Given the description of an element on the screen output the (x, y) to click on. 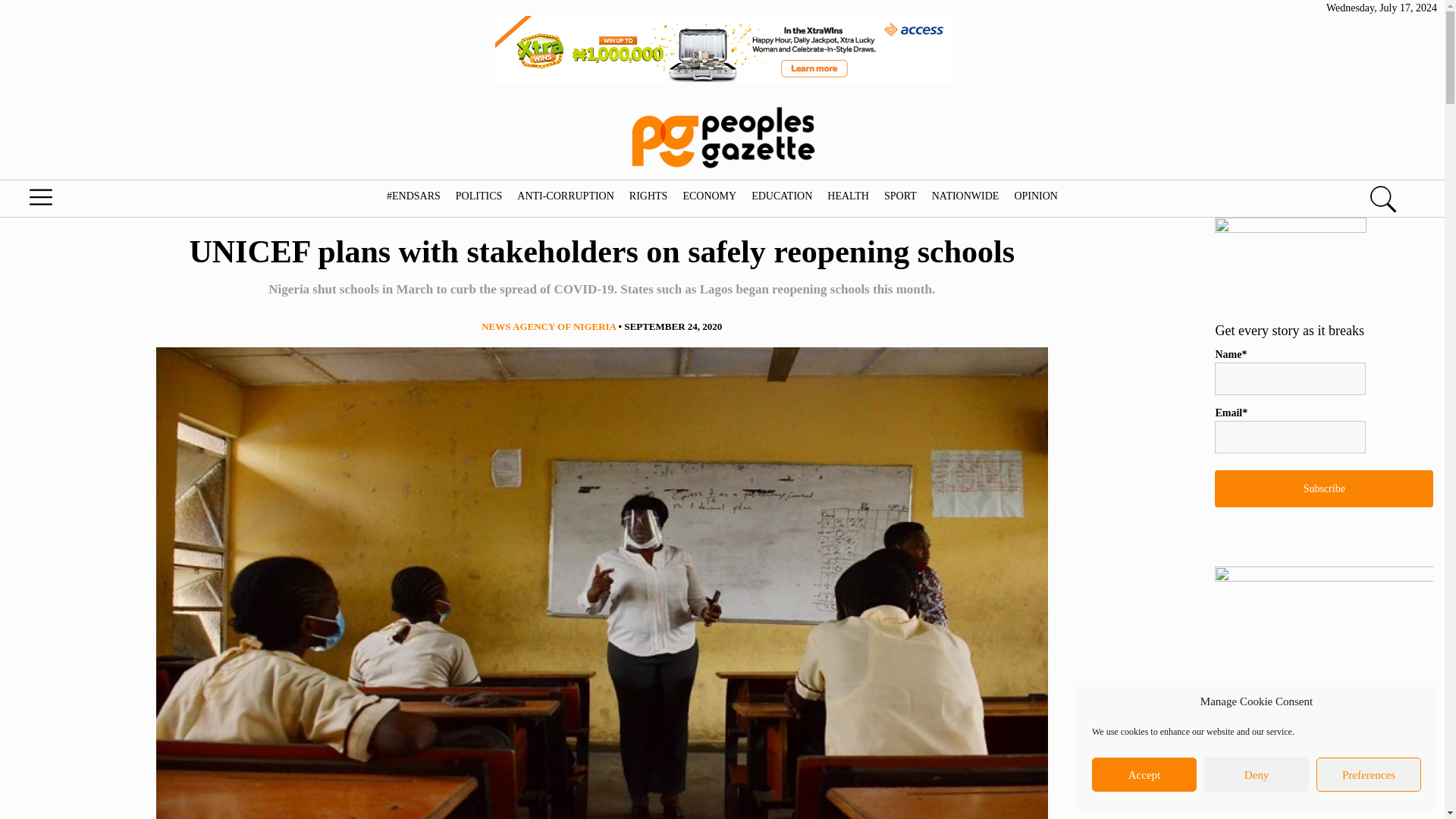
EDUCATION (781, 195)
HEALTH (848, 195)
RIGHTS (648, 195)
POLITICS (478, 195)
NATIONWIDE (965, 195)
OPINION (1035, 195)
Menu (76, 200)
Posts by News Agency of Nigeria (548, 326)
Preferences (1368, 774)
ANTI-CORRUPTION (565, 195)
SPORT (900, 195)
Subscribe (1323, 488)
Accept (1144, 774)
Deny (1256, 774)
ECONOMY (708, 195)
